Given the description of an element on the screen output the (x, y) to click on. 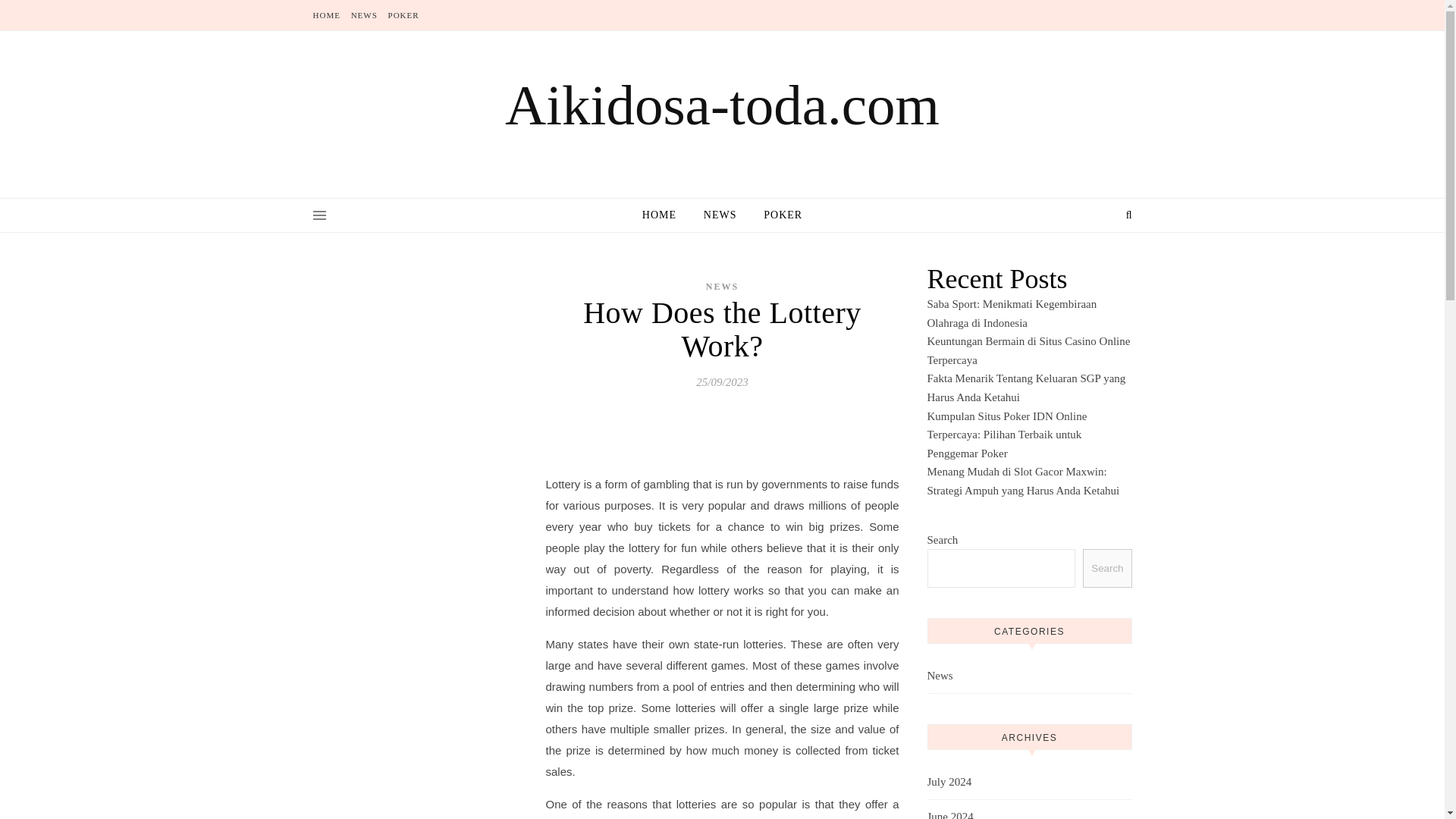
Saba Sport: Menikmati Kegembiraan Olahraga di Indonesia (1011, 313)
HOME (665, 215)
HOME (328, 15)
POKER (401, 15)
Fakta Menarik Tentang Keluaran SGP yang Harus Anda Ketahui (1025, 387)
June 2024 (949, 809)
NEWS (720, 215)
Keuntungan Bermain di Situs Casino Online Terpercaya (1027, 350)
POKER (776, 215)
NEWS (722, 286)
Search (1107, 568)
NEWS (364, 15)
July 2024 (948, 781)
